Given the description of an element on the screen output the (x, y) to click on. 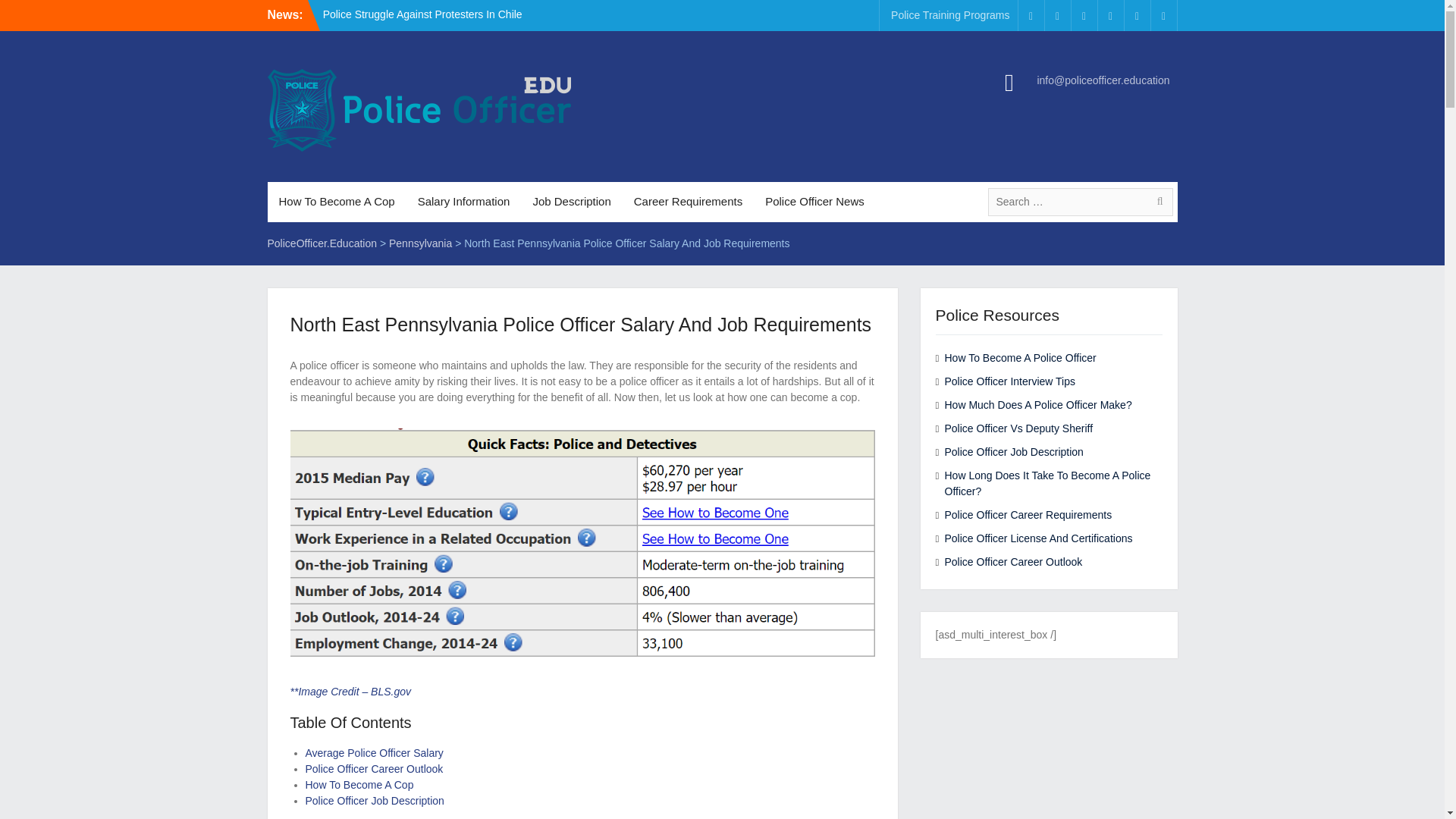
Police Officer Career Outlook (373, 768)
Police Officer Job Description (374, 800)
Average Police Officer Salary (373, 752)
Police Struggle Against Protesters In Chile (422, 14)
Career Requirements (688, 201)
Police Training Programs (949, 15)
Pennsylvania (419, 242)
How To Become A Cop (358, 784)
Police Officer News (815, 201)
Job Description (571, 201)
